Given the description of an element on the screen output the (x, y) to click on. 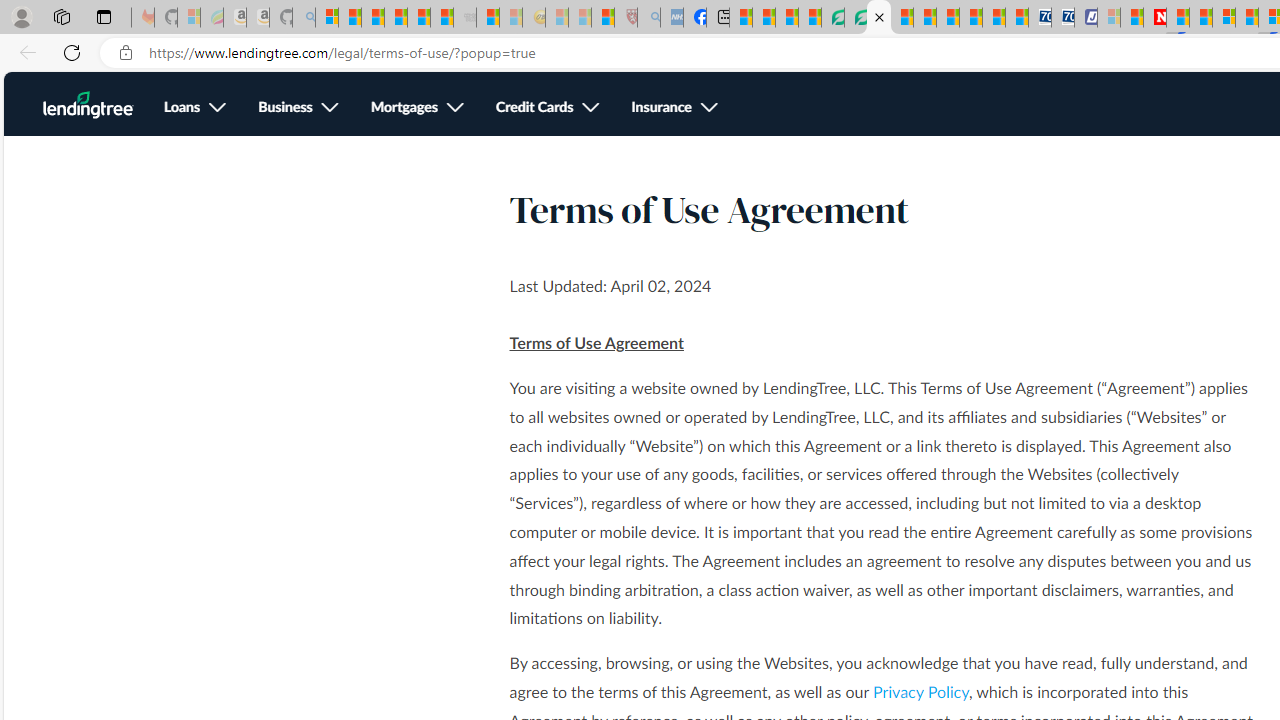
Cheap Car Rentals - Save70.com (1039, 17)
The Weather Channel - MSN (372, 17)
